Given the description of an element on the screen output the (x, y) to click on. 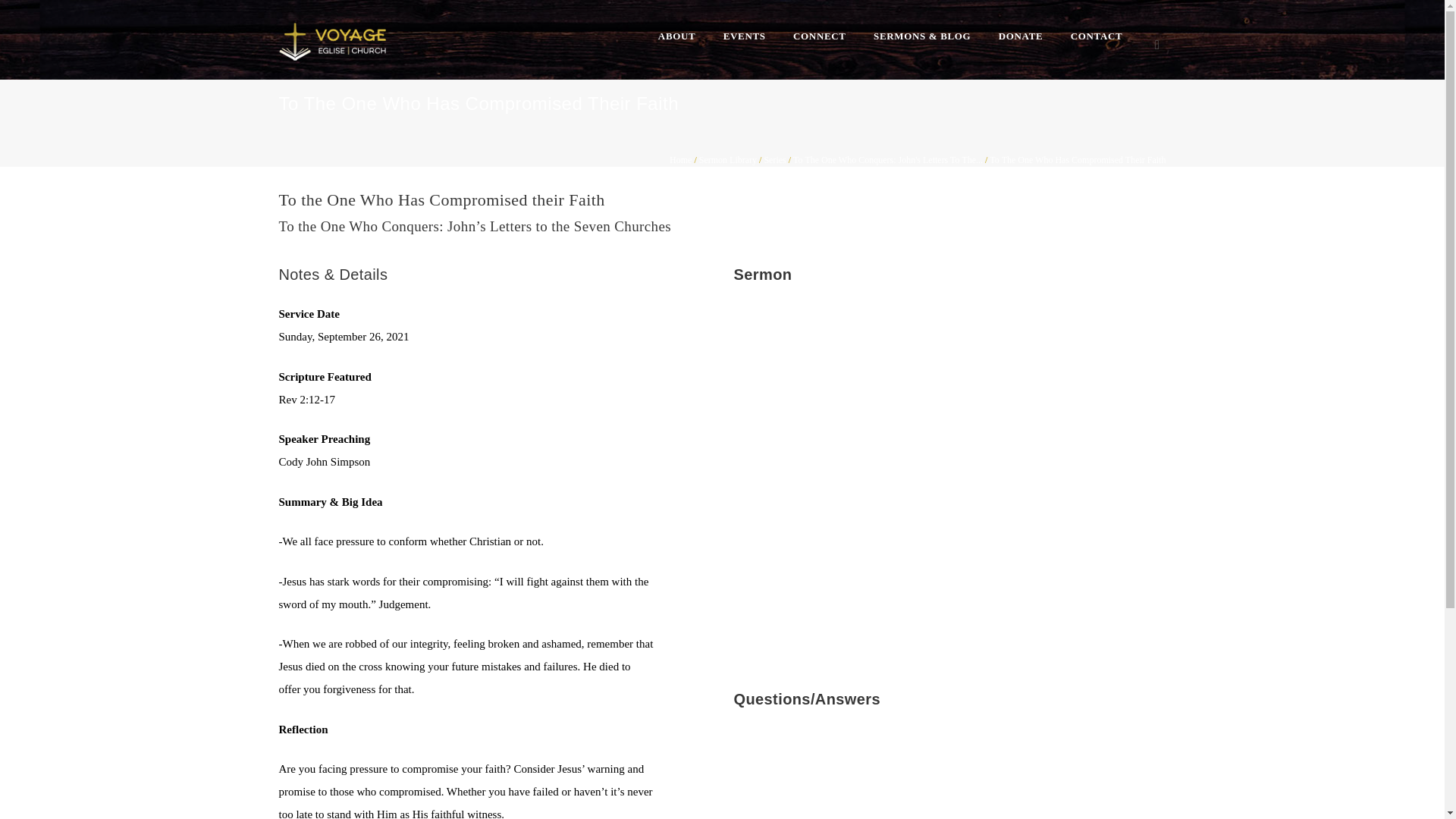
Open search (1157, 44)
DONATE (1021, 36)
Questions on Compromising our Faith (949, 773)
CONTACT (1097, 36)
ABOUT (677, 36)
CONNECT (819, 36)
EVENTS (744, 36)
